Given the description of an element on the screen output the (x, y) to click on. 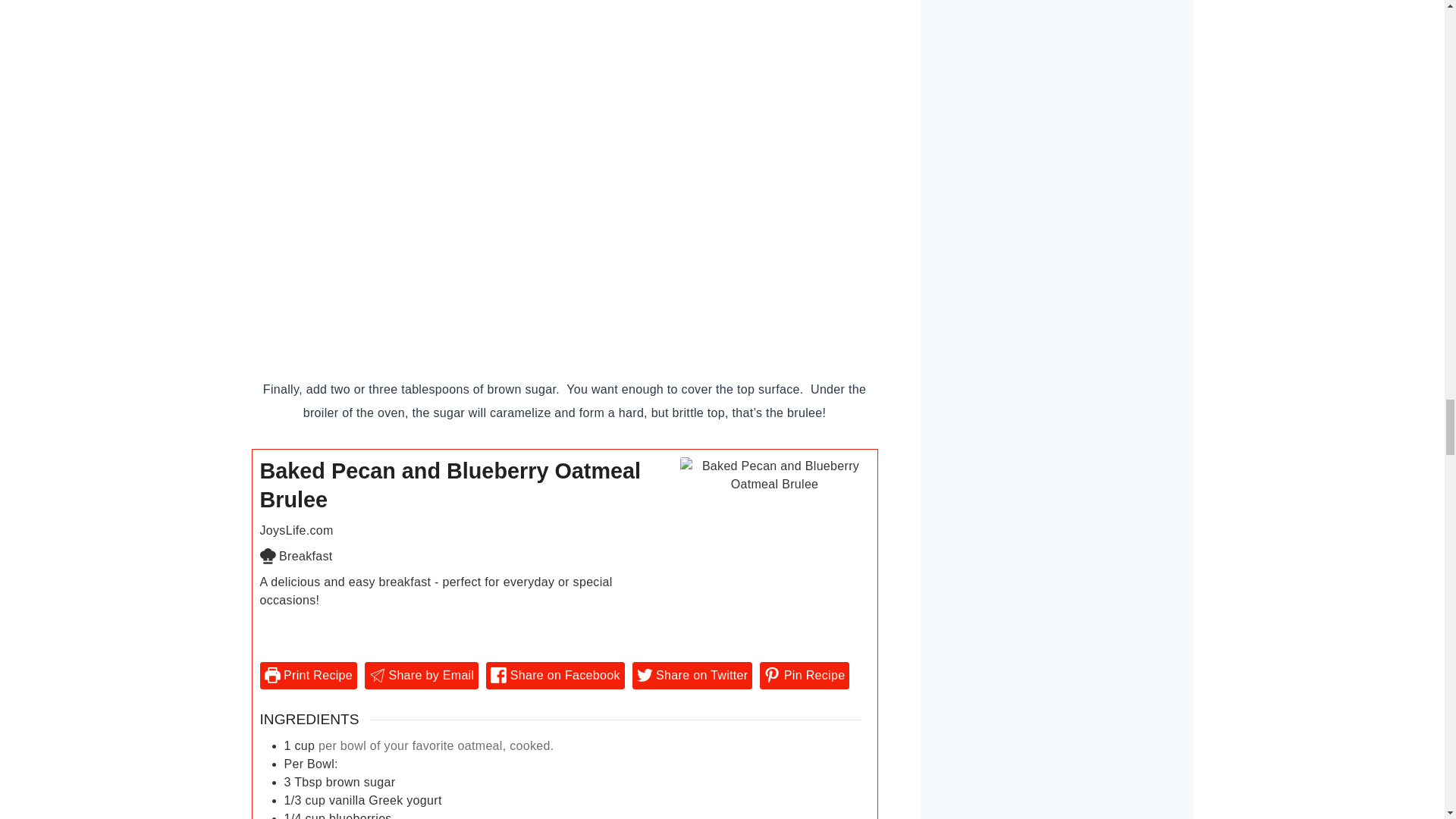
Print Recipe (307, 675)
Share by Email (422, 675)
